Given the description of an element on the screen output the (x, y) to click on. 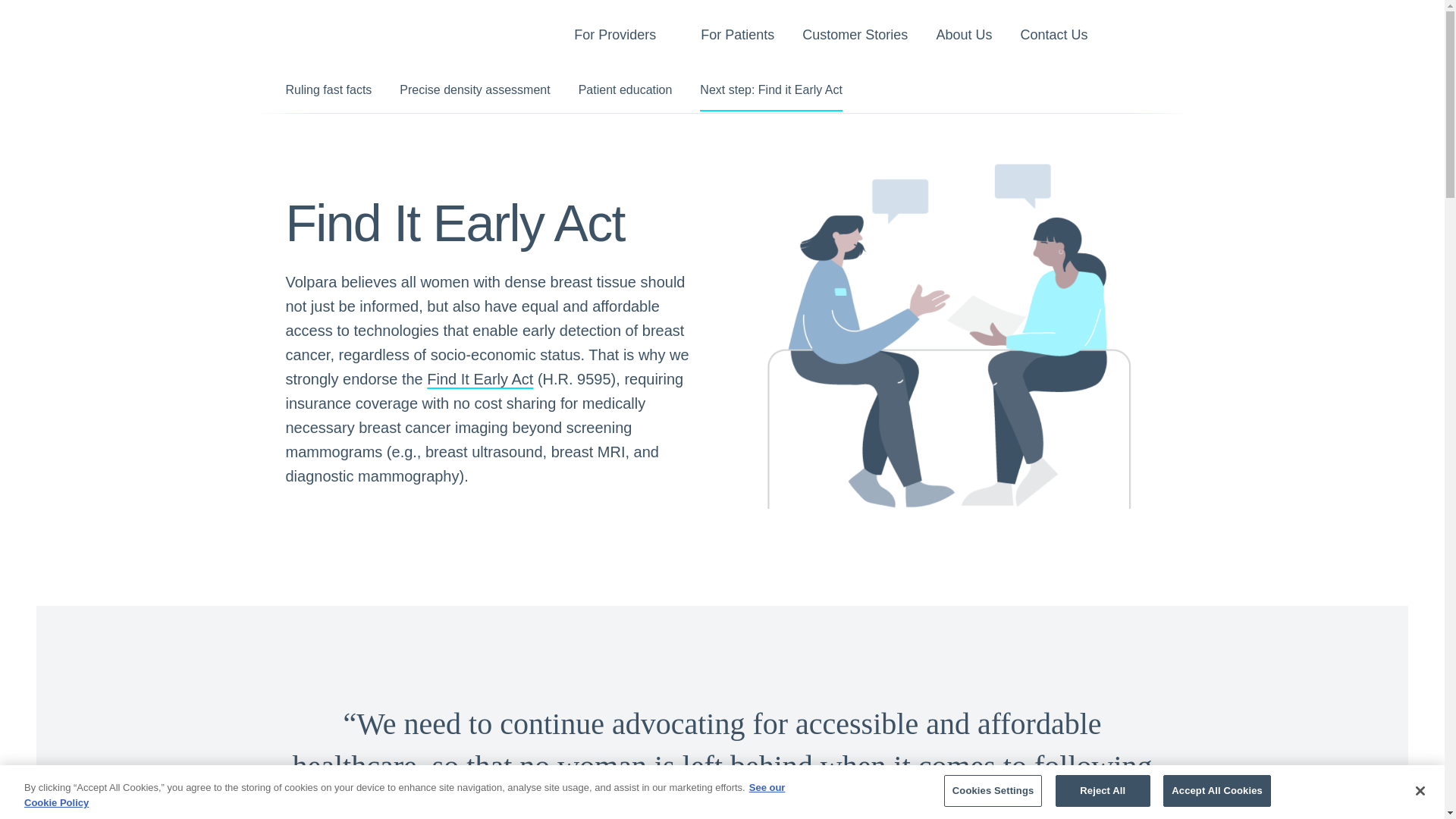
For Patients (737, 37)
Magnifying glass (1137, 35)
Volpara Health company logo (345, 33)
Magnifying glass (1137, 37)
For Providers (614, 37)
Customer Stories (854, 37)
Contact Us (1053, 37)
About Us (963, 37)
Volpara Health company logo (345, 33)
